Given the description of an element on the screen output the (x, y) to click on. 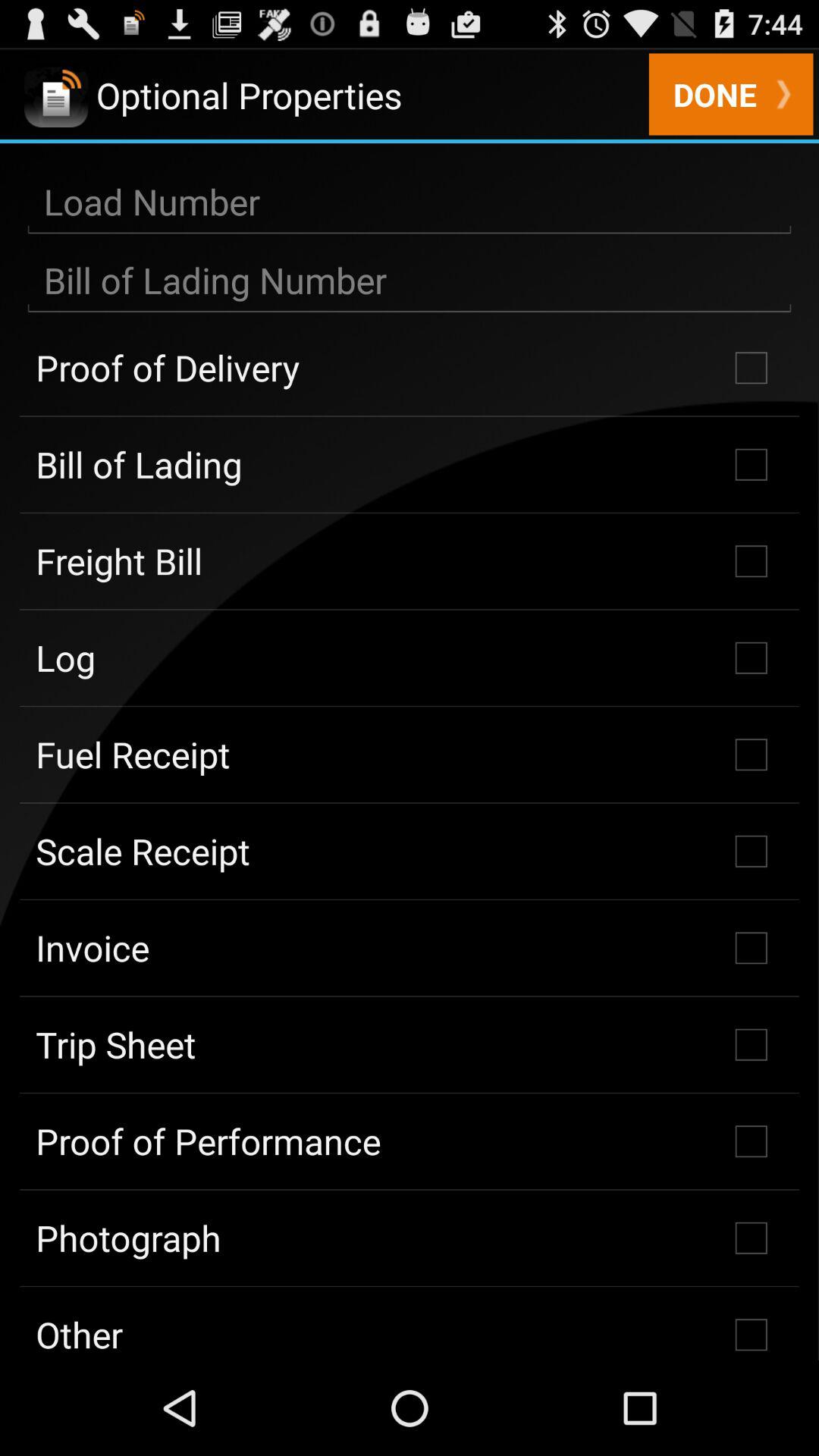
click the checkbox below the freight bill checkbox (409, 657)
